Given the description of an element on the screen output the (x, y) to click on. 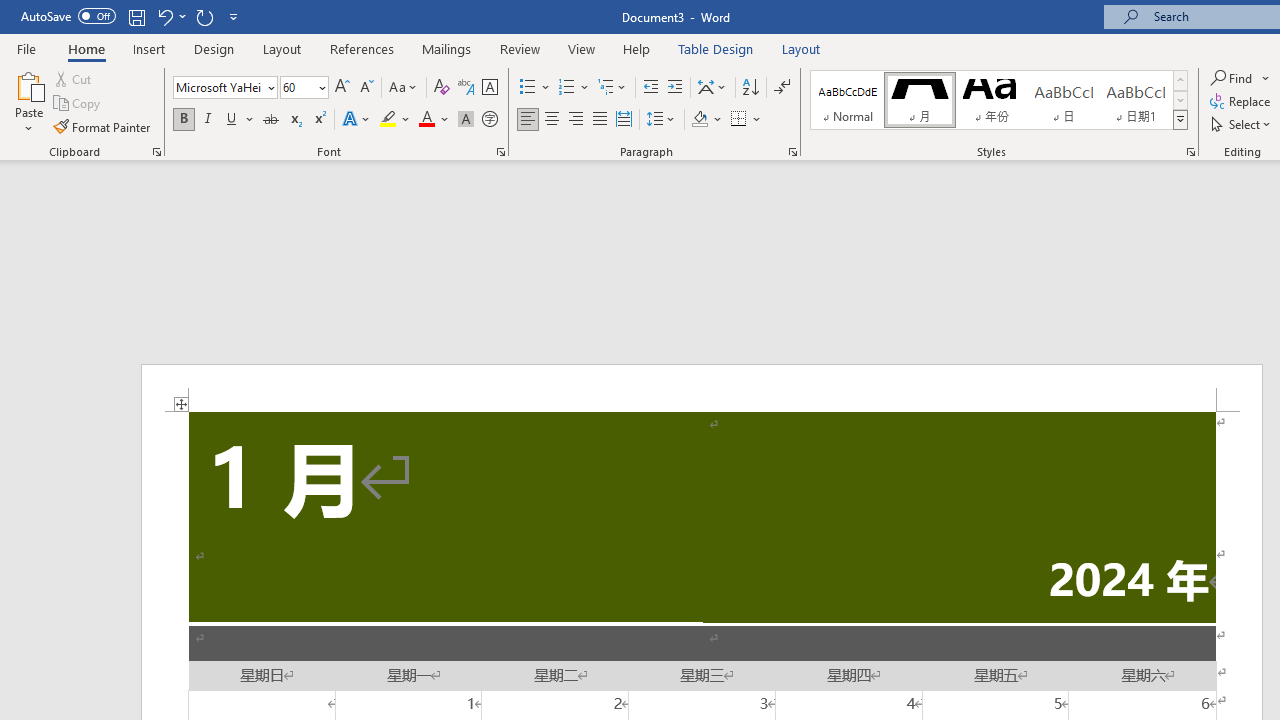
Font Color RGB(255, 0, 0) (426, 119)
